Given the description of an element on the screen output the (x, y) to click on. 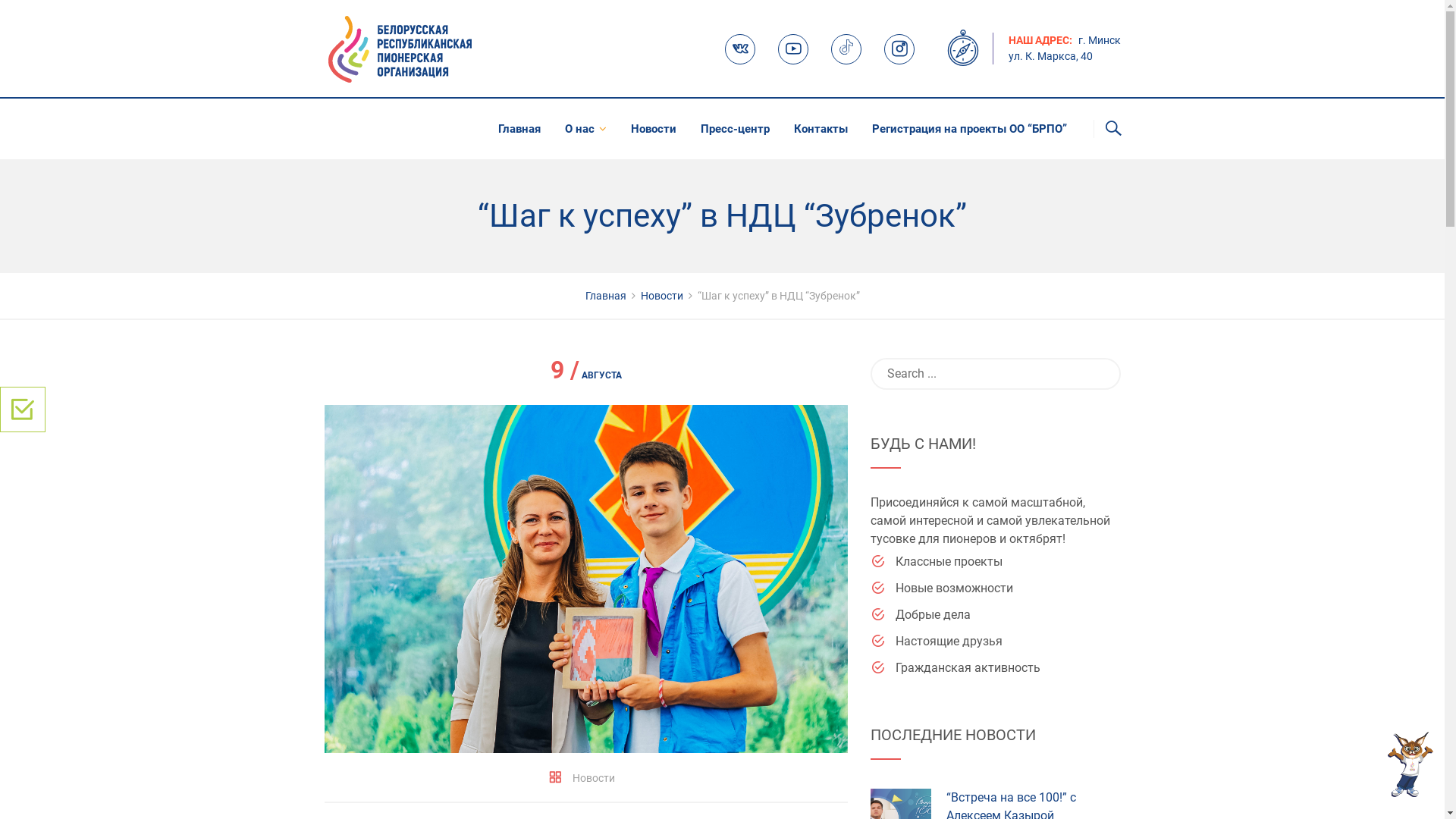
Instagram Element type: hover (899, 49)
Skip to content Element type: text (0, 0)
VK Element type: hover (739, 49)
Search Element type: text (35, 15)
TikTok Element type: hover (846, 49)
Youtube Element type: hover (793, 49)
Search for: Element type: hover (995, 373)
